Given the description of an element on the screen output the (x, y) to click on. 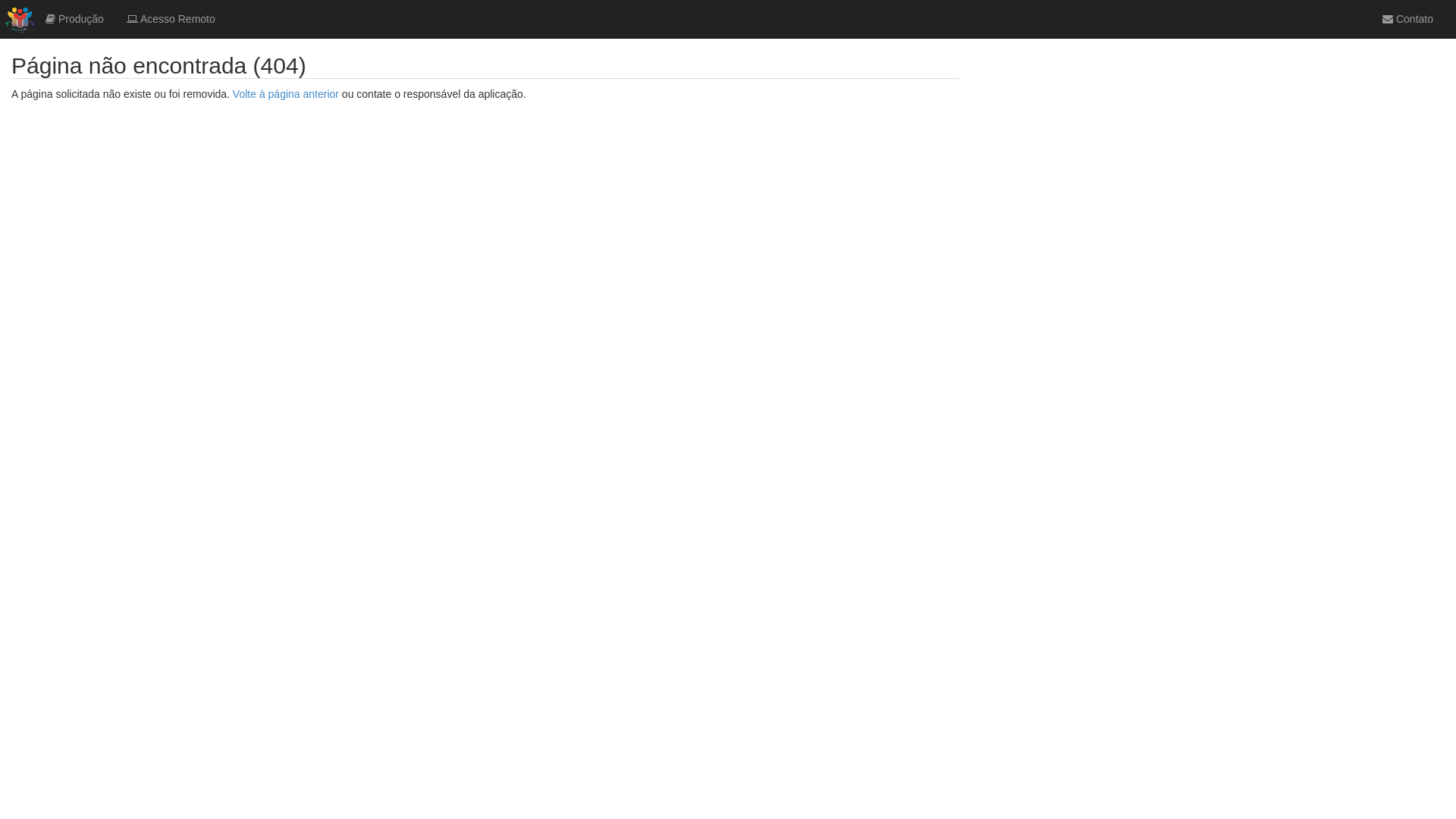
Acesso Remoto Element type: text (170, 18)
Contato Element type: text (1407, 18)
DELOS Element type: hover (17, 18)
